Given the description of an element on the screen output the (x, y) to click on. 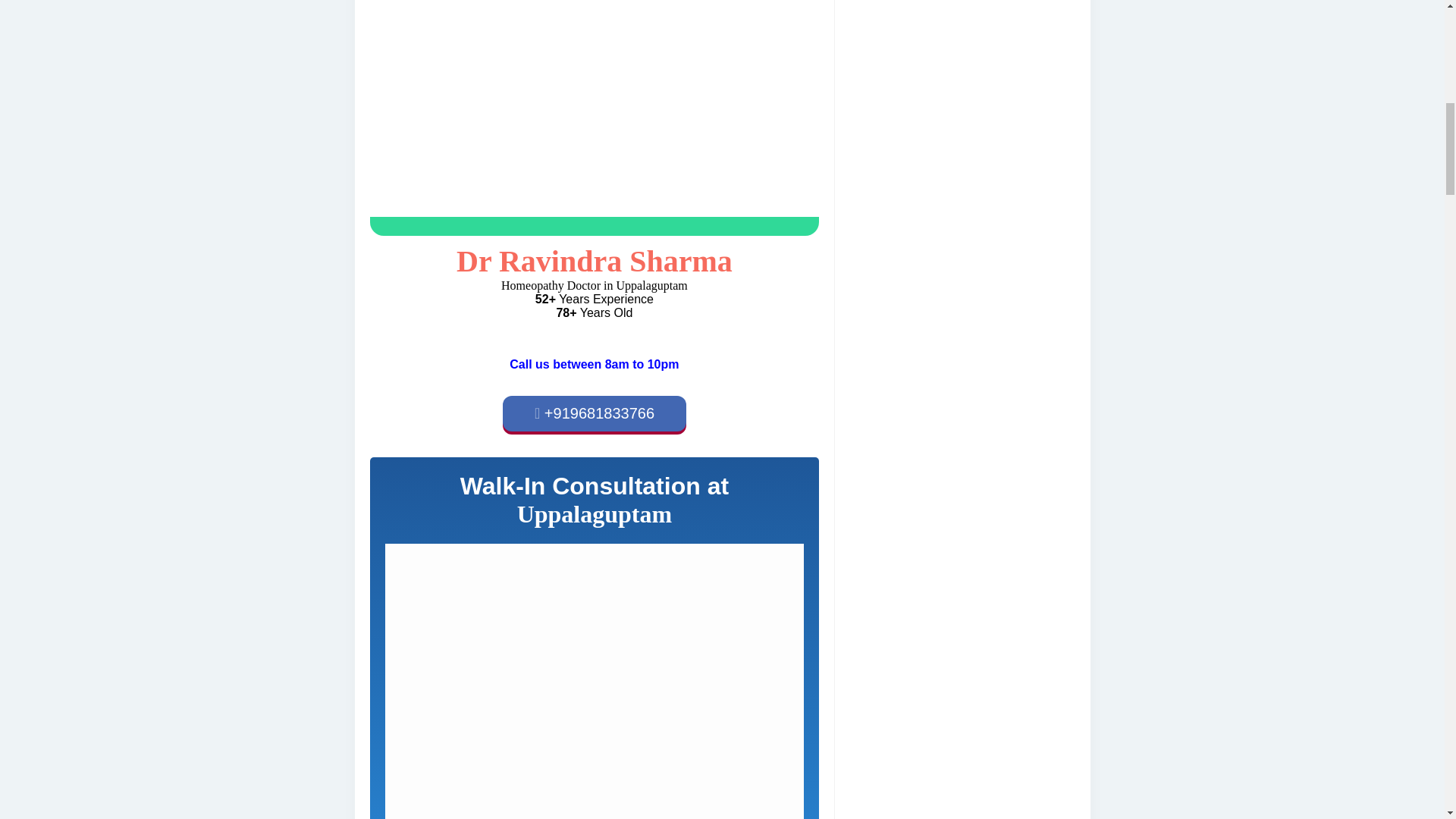
Dr Ravindra Sharma (594, 261)
Homeopathy Doctor in Uppalaguptam (594, 118)
